Given the description of an element on the screen output the (x, y) to click on. 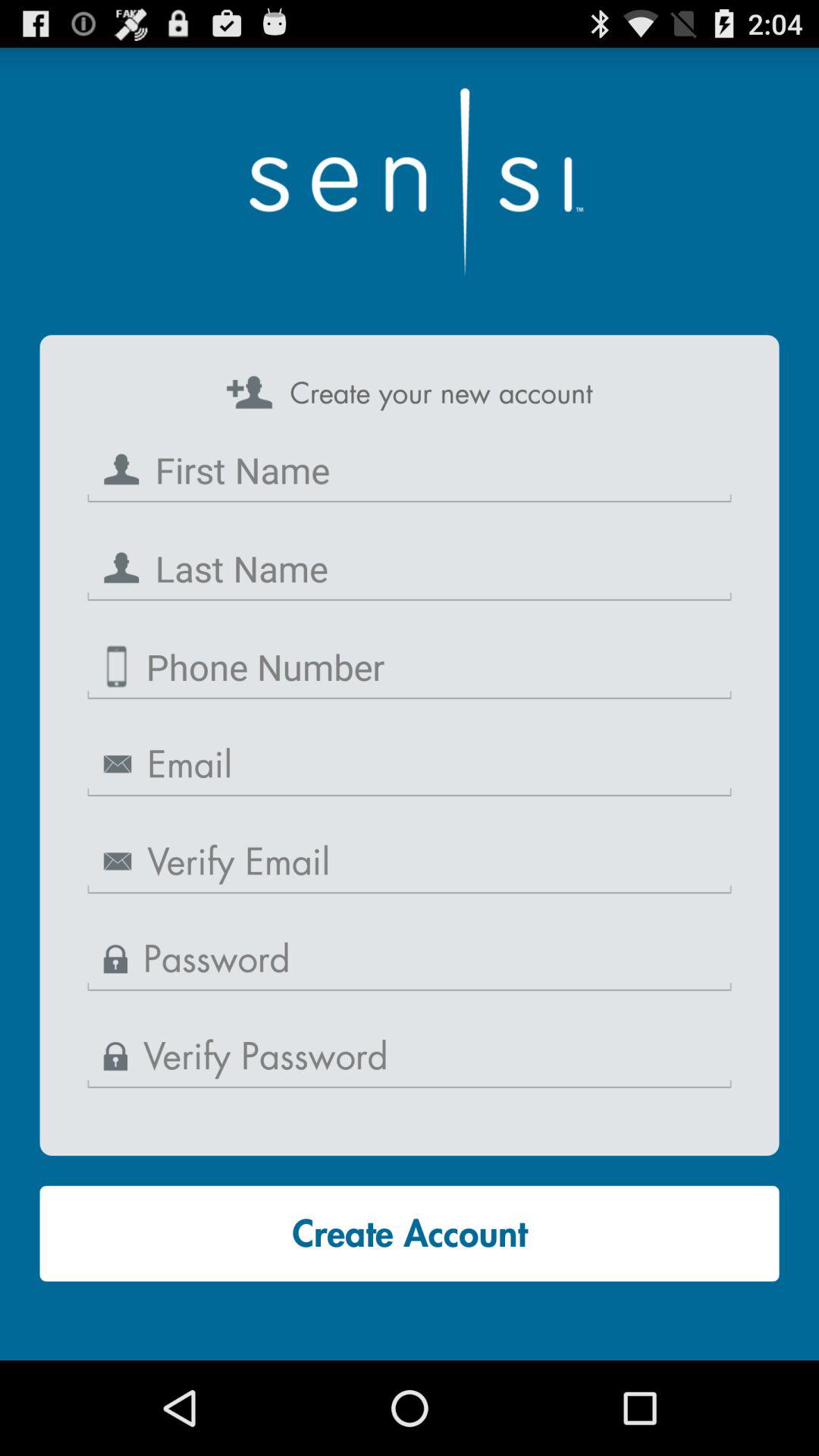
enter a phone number (409, 667)
